Given the description of an element on the screen output the (x, y) to click on. 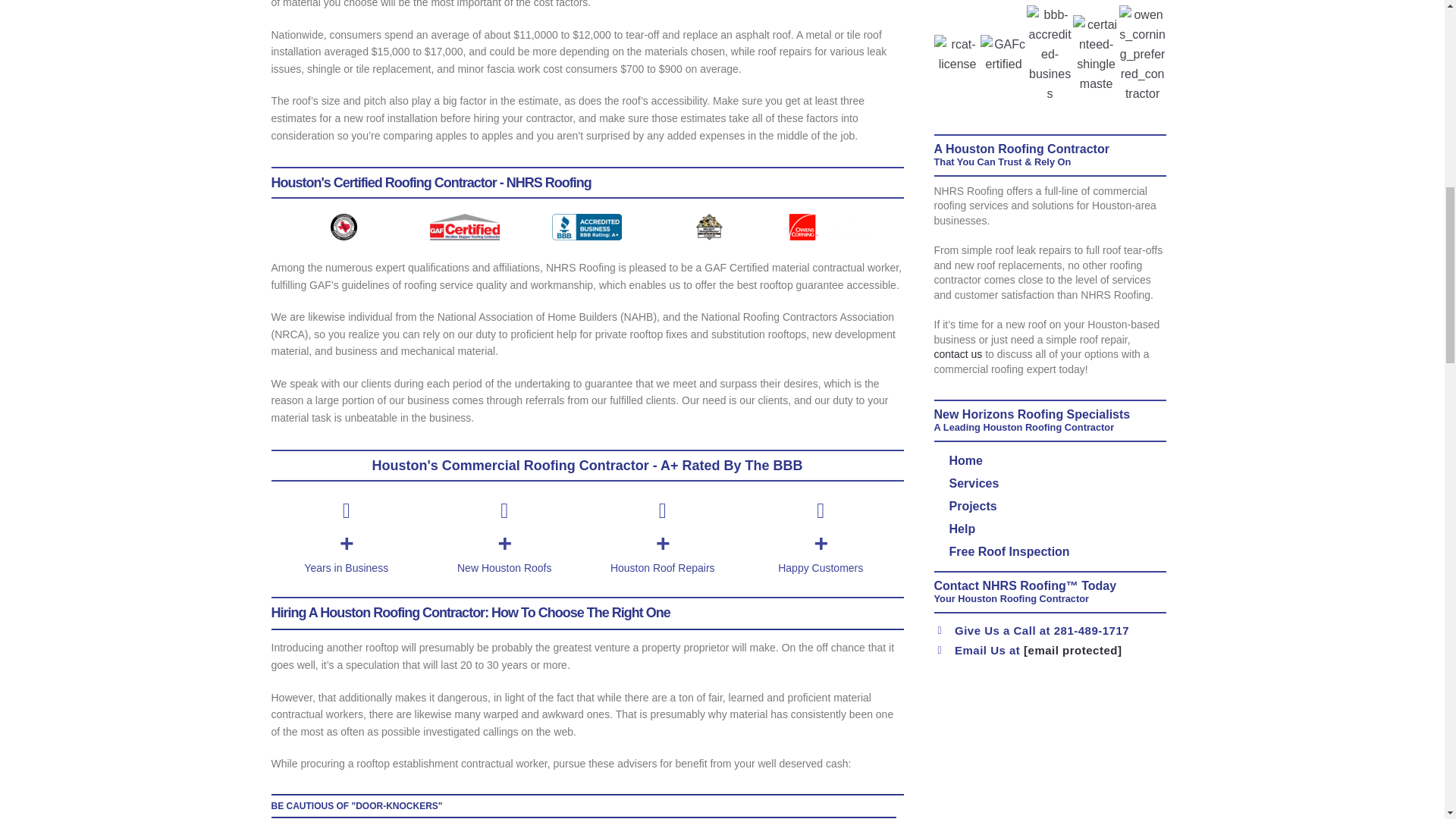
Free Roof Inspection (1052, 551)
Projects (1052, 506)
Help (1052, 528)
contact us (958, 354)
Services (1052, 483)
Home (1052, 460)
